Given the description of an element on the screen output the (x, y) to click on. 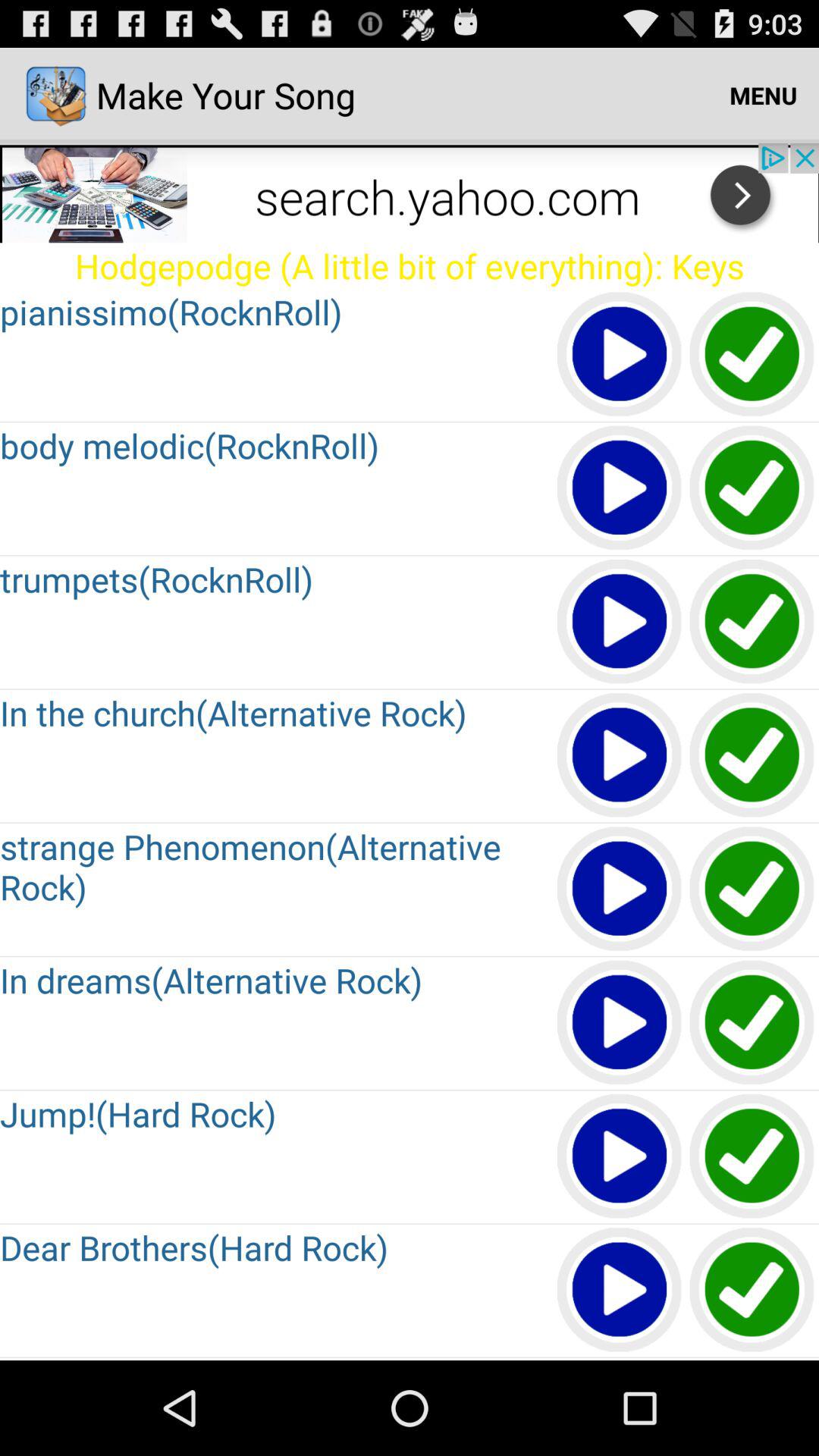
corret button (752, 1023)
